Given the description of an element on the screen output the (x, y) to click on. 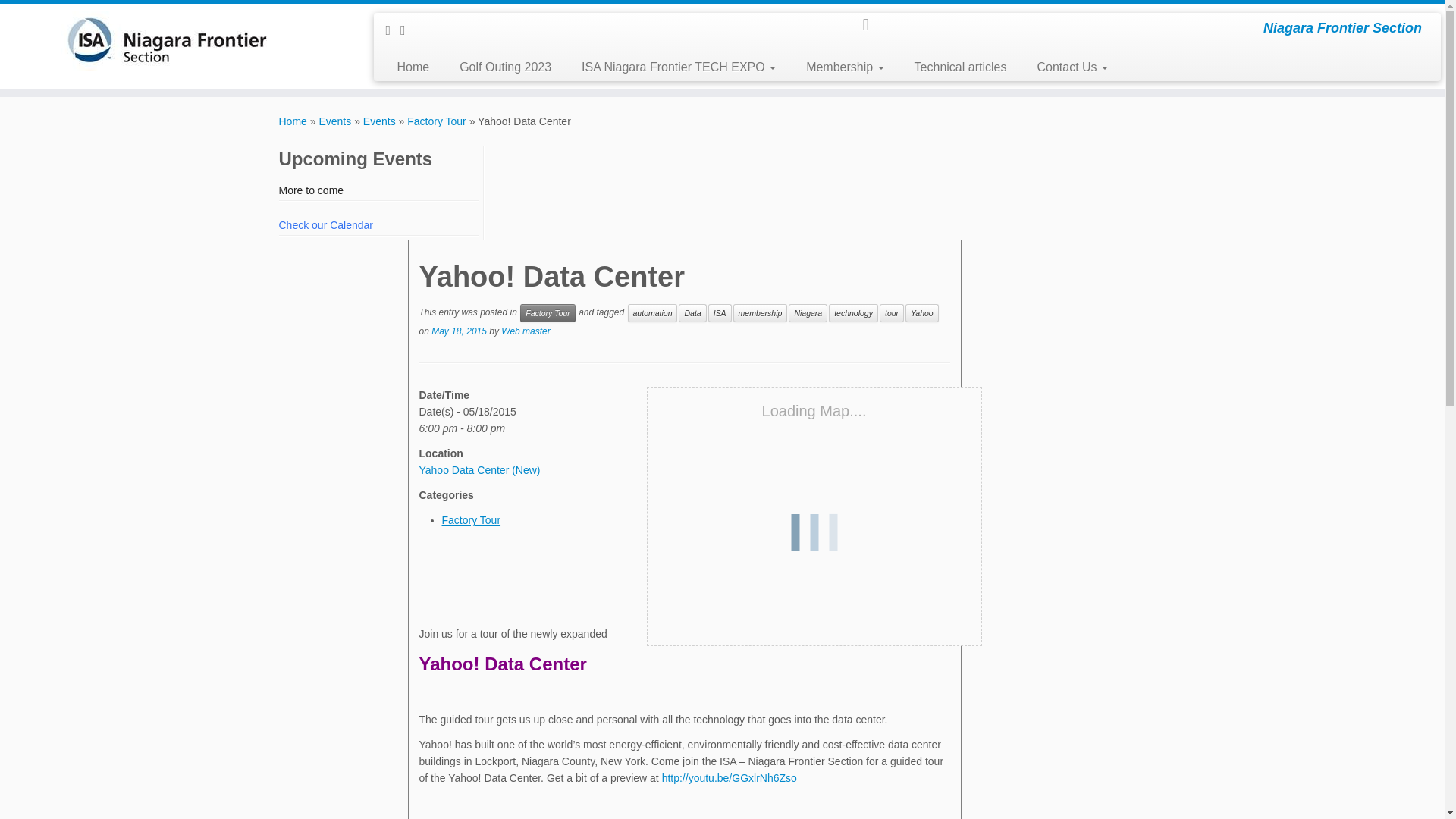
View your shopping cart (874, 23)
Check our Calendar (326, 224)
View all posts in tour (891, 312)
View all posts in Factory Tour (547, 312)
View all posts in technology (852, 312)
Events (379, 121)
View all posts in automation (652, 312)
Data (692, 312)
Web master (525, 330)
membership (760, 312)
